Given the description of an element on the screen output the (x, y) to click on. 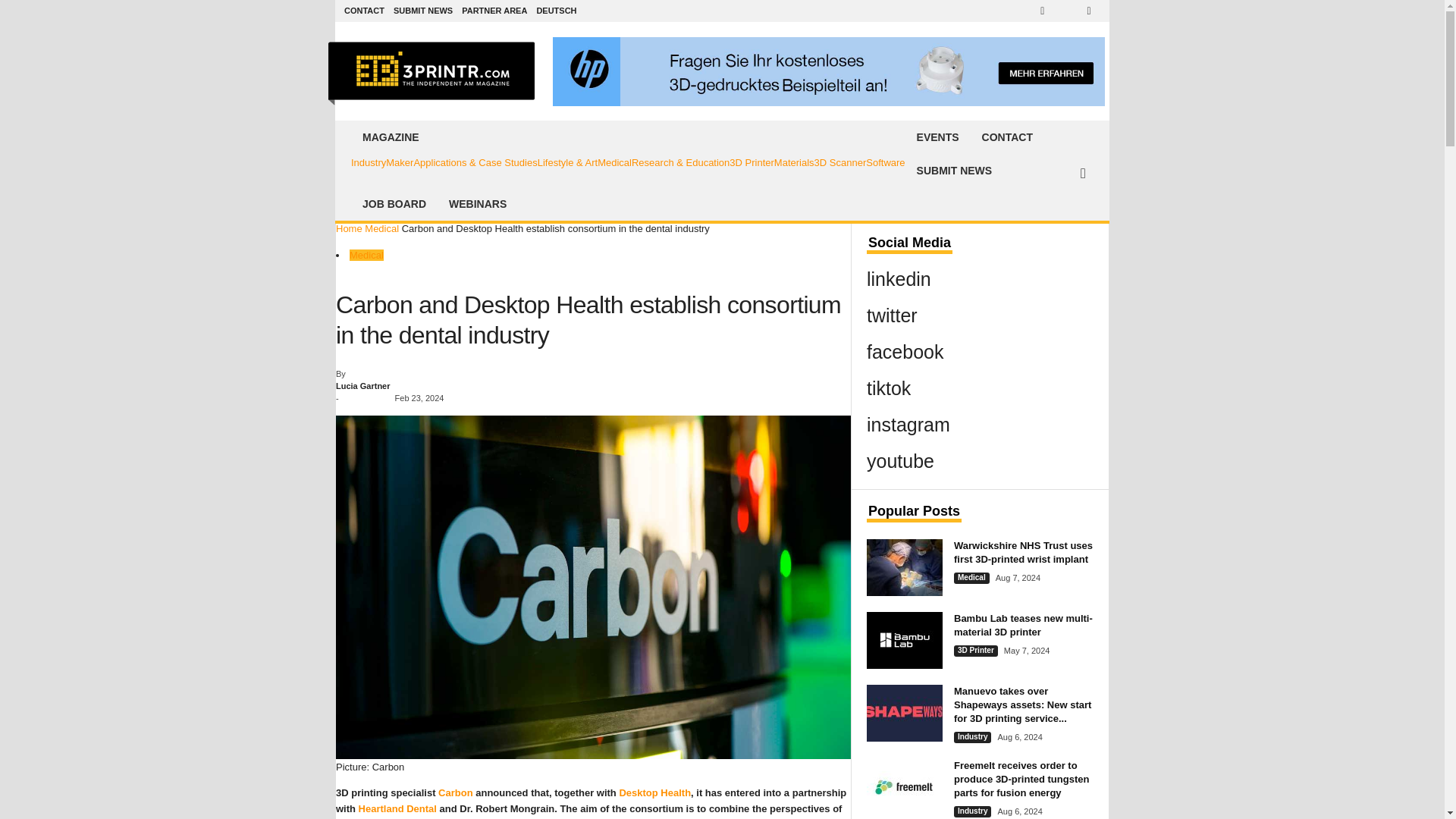
MAGAZINE (627, 136)
Maker (399, 162)
SUBMIT NEWS (422, 10)
Industry (367, 162)
DEUTSCH (555, 10)
Medical (613, 162)
View all posts in Medical (381, 228)
PARTNER AREA (494, 10)
CONTACT (363, 10)
